Given the description of an element on the screen output the (x, y) to click on. 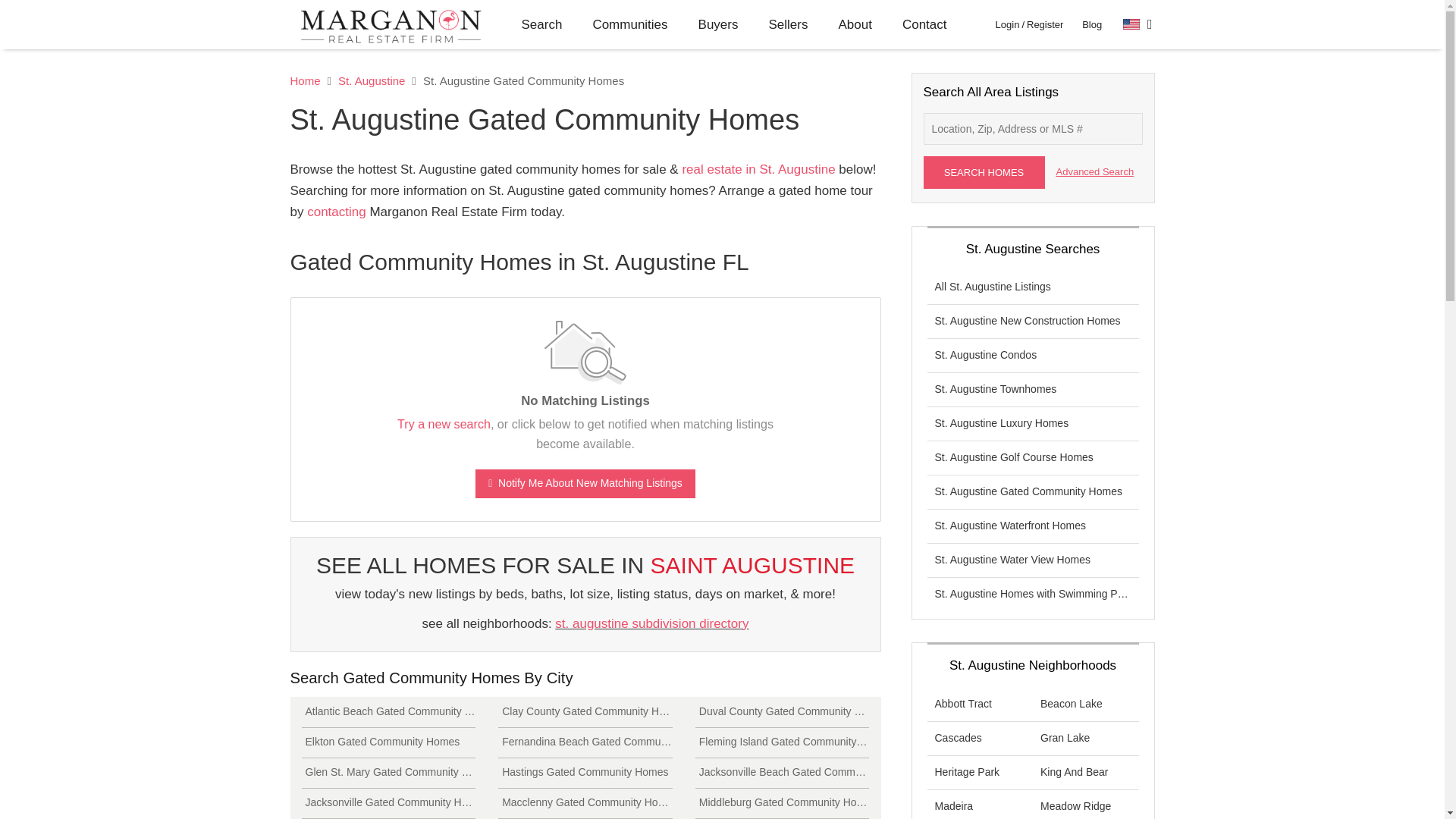
Sellers (789, 24)
View Fernandina Beach Gated Community Homes (584, 742)
Communities (629, 24)
View Atlantic Beach Gated Community Homes (388, 712)
View Clay County Gated Community Homes (584, 712)
Buyers (718, 24)
View Duval County Gated Community Homes (782, 712)
Register (1044, 24)
Search (542, 24)
Contact (924, 24)
Select Language (1137, 24)
About (854, 24)
View Elkton Gated Community Homes (388, 742)
Blog (1091, 24)
